Given the description of an element on the screen output the (x, y) to click on. 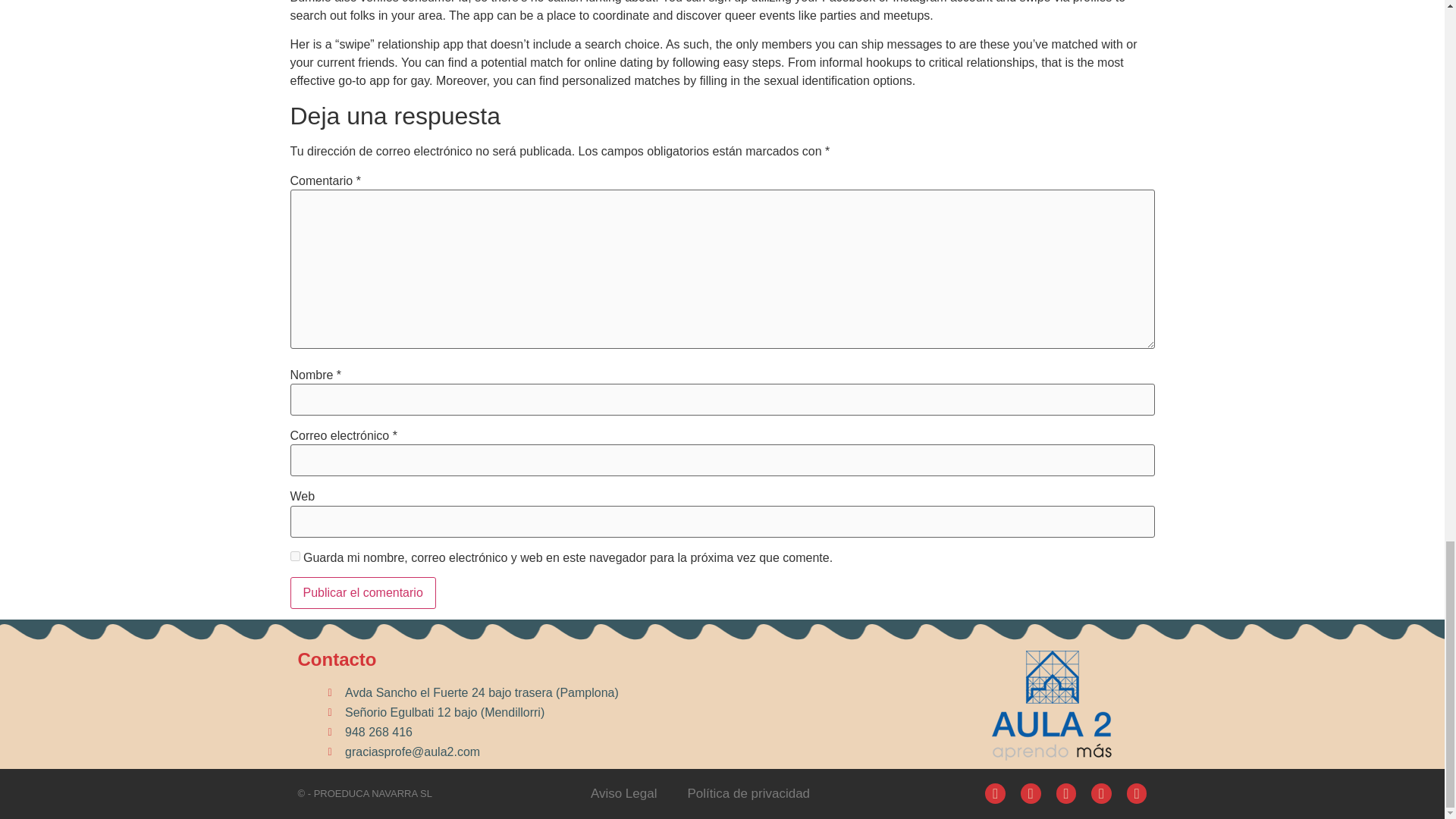
Publicar el comentario (362, 593)
Publicar el comentario (362, 593)
yes (294, 556)
Aviso Legal (623, 793)
